Given the description of an element on the screen output the (x, y) to click on. 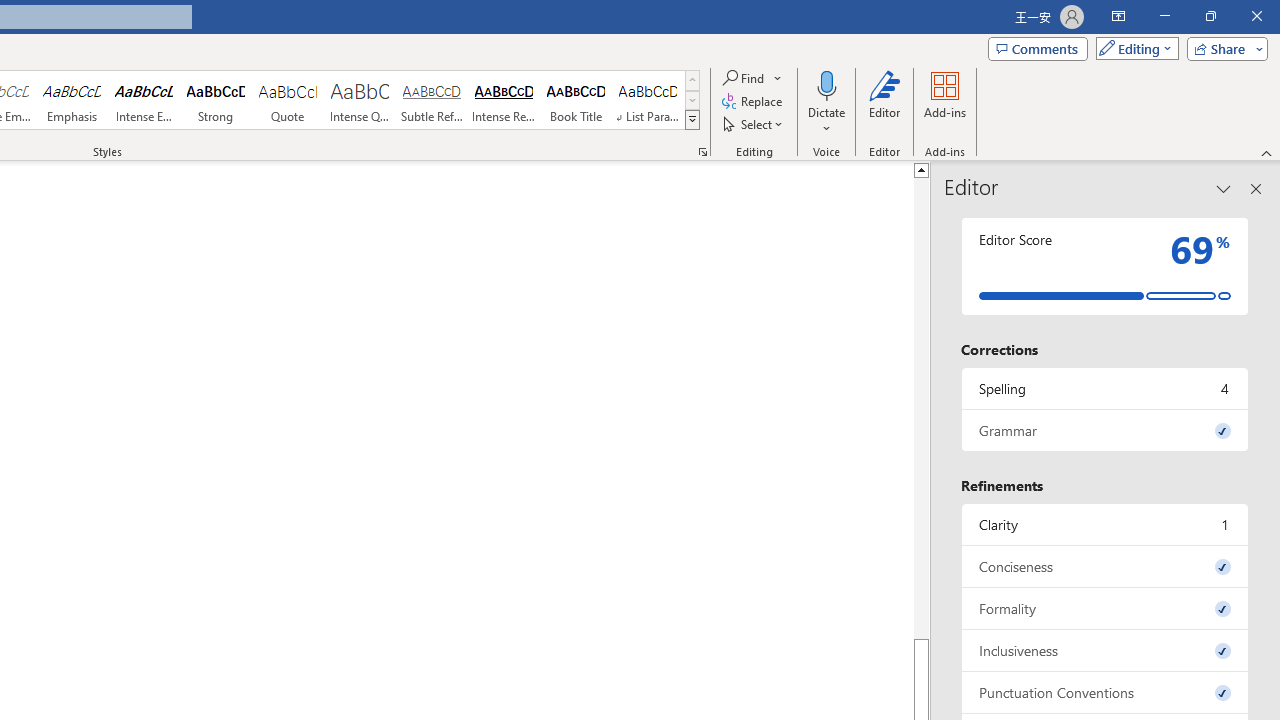
Spelling, 4 issues. Press space or enter to review items. (1105, 387)
Clarity, 1 issue. Press space or enter to review items. (1105, 524)
Editor Score 69% (1105, 266)
